Given the description of an element on the screen output the (x, y) to click on. 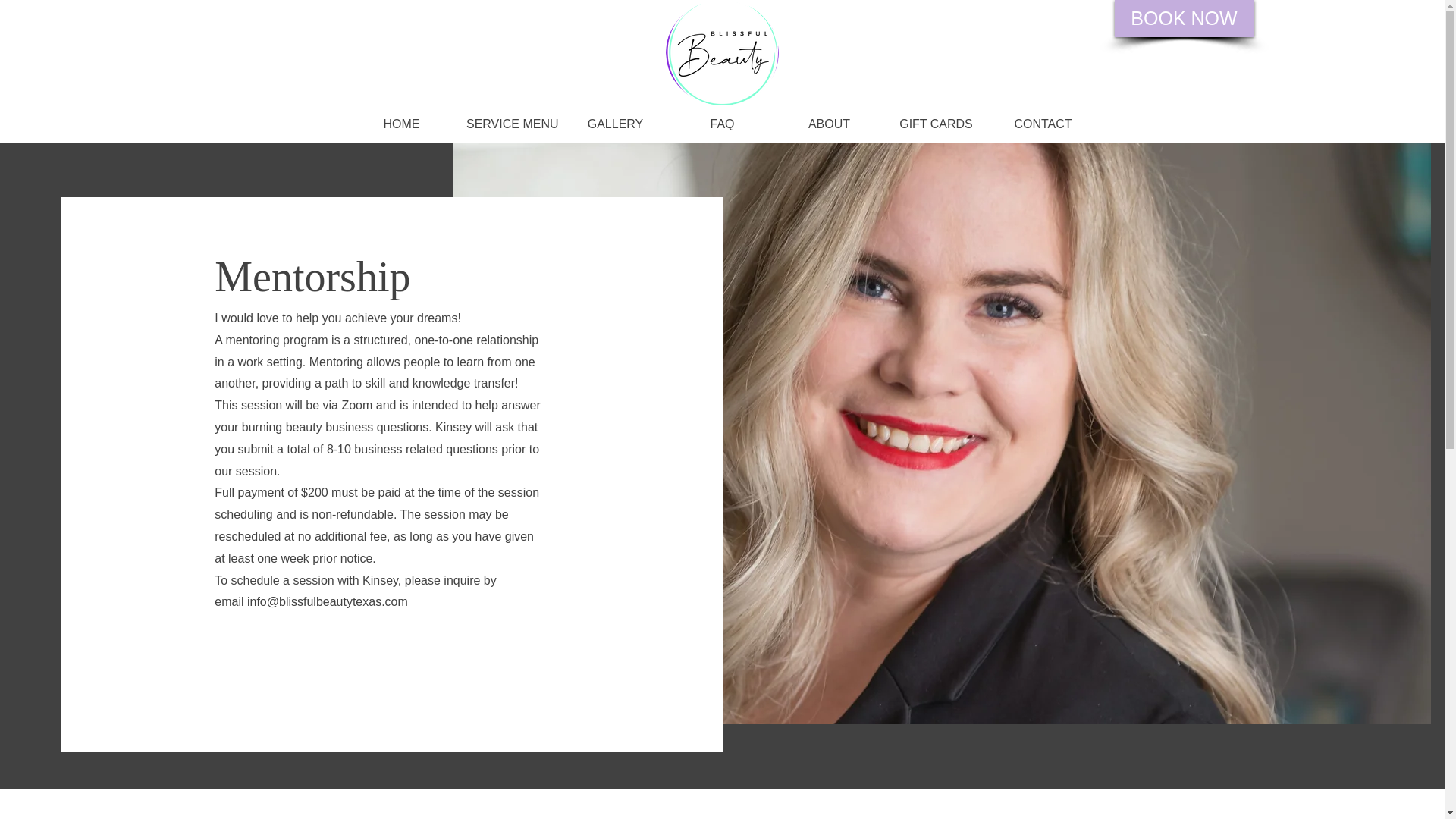
GIFT CARDS (936, 123)
BOOK NOW (1184, 18)
CONTACT (1043, 123)
HOME (400, 123)
GALLERY (615, 123)
